Given the description of an element on the screen output the (x, y) to click on. 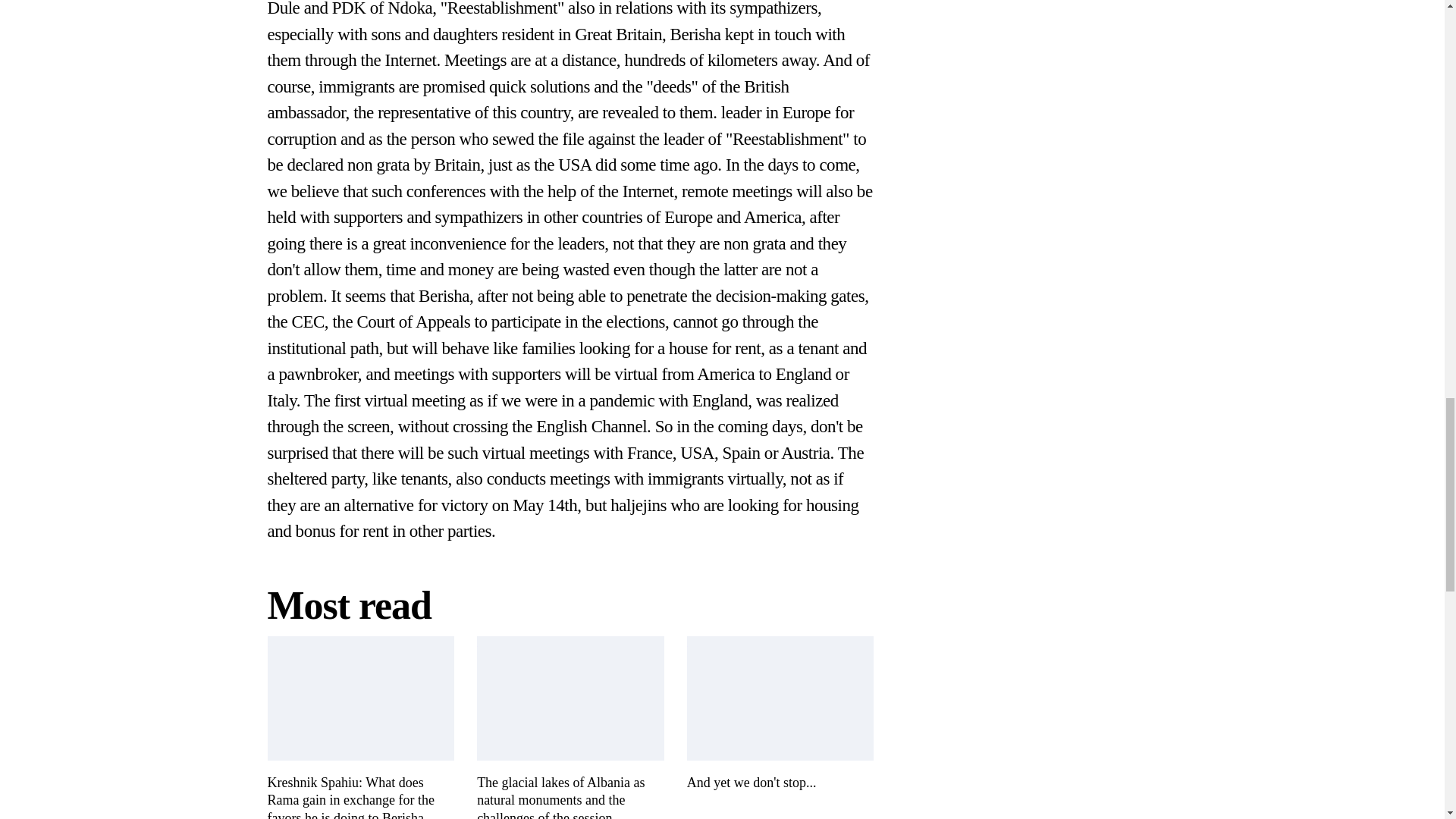
And yet we don't stop... (781, 714)
